Given the description of an element on the screen output the (x, y) to click on. 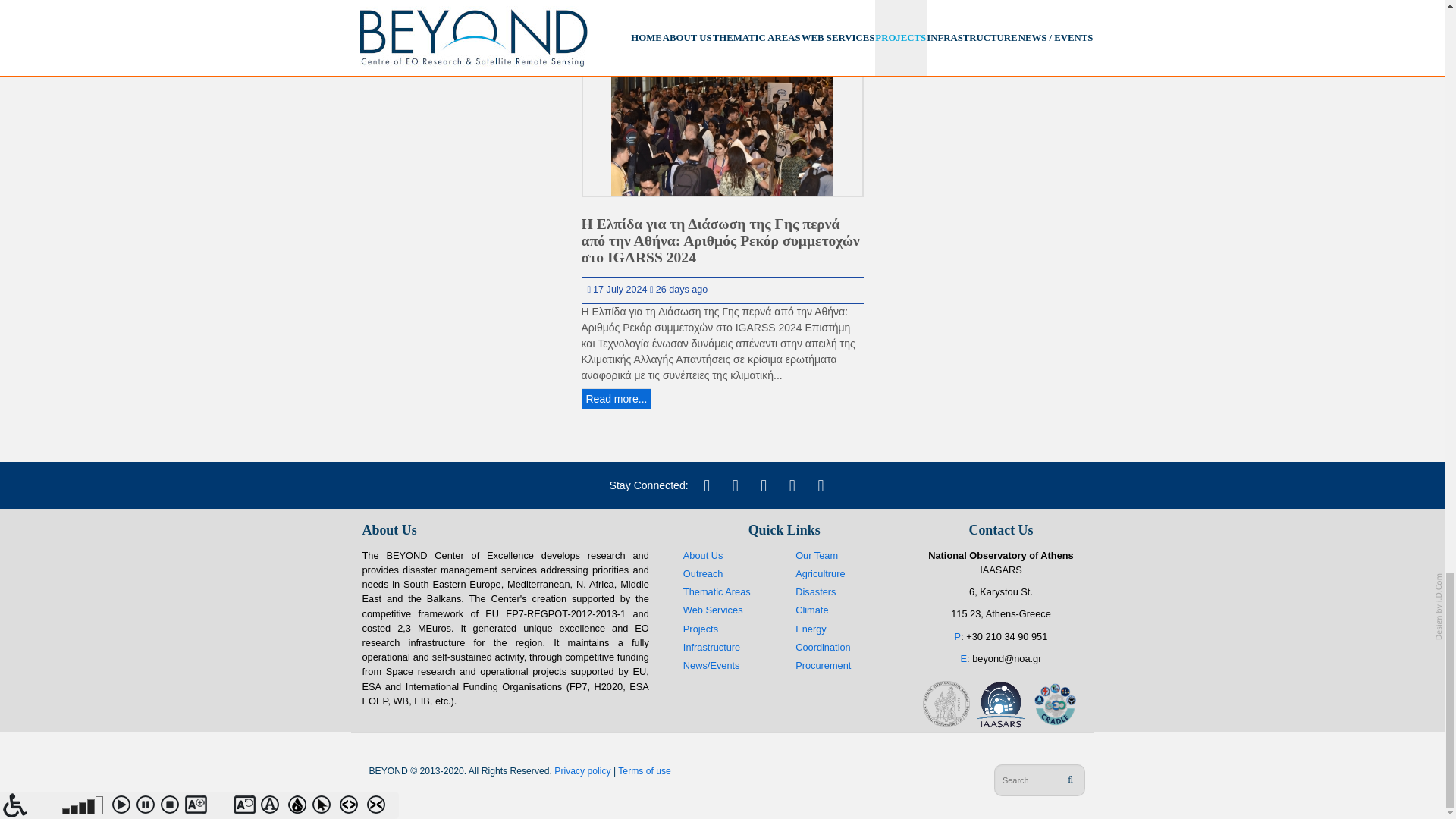
Youtube (820, 484)
Linkedin (763, 484)
Twitter (706, 484)
Instagram (791, 484)
Facebook (734, 484)
